Given the description of an element on the screen output the (x, y) to click on. 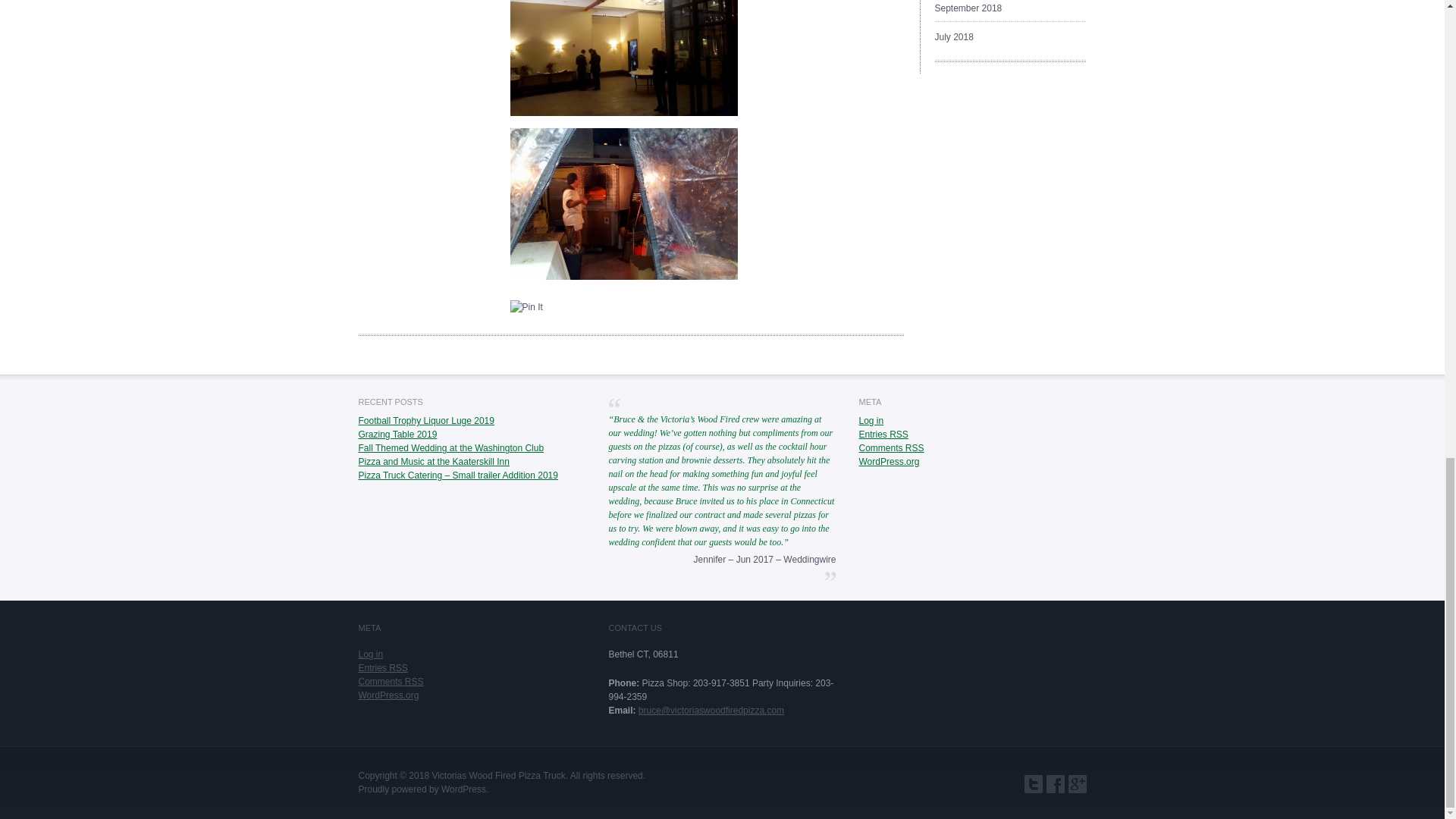
Pin It (525, 306)
